Given the description of an element on the screen output the (x, y) to click on. 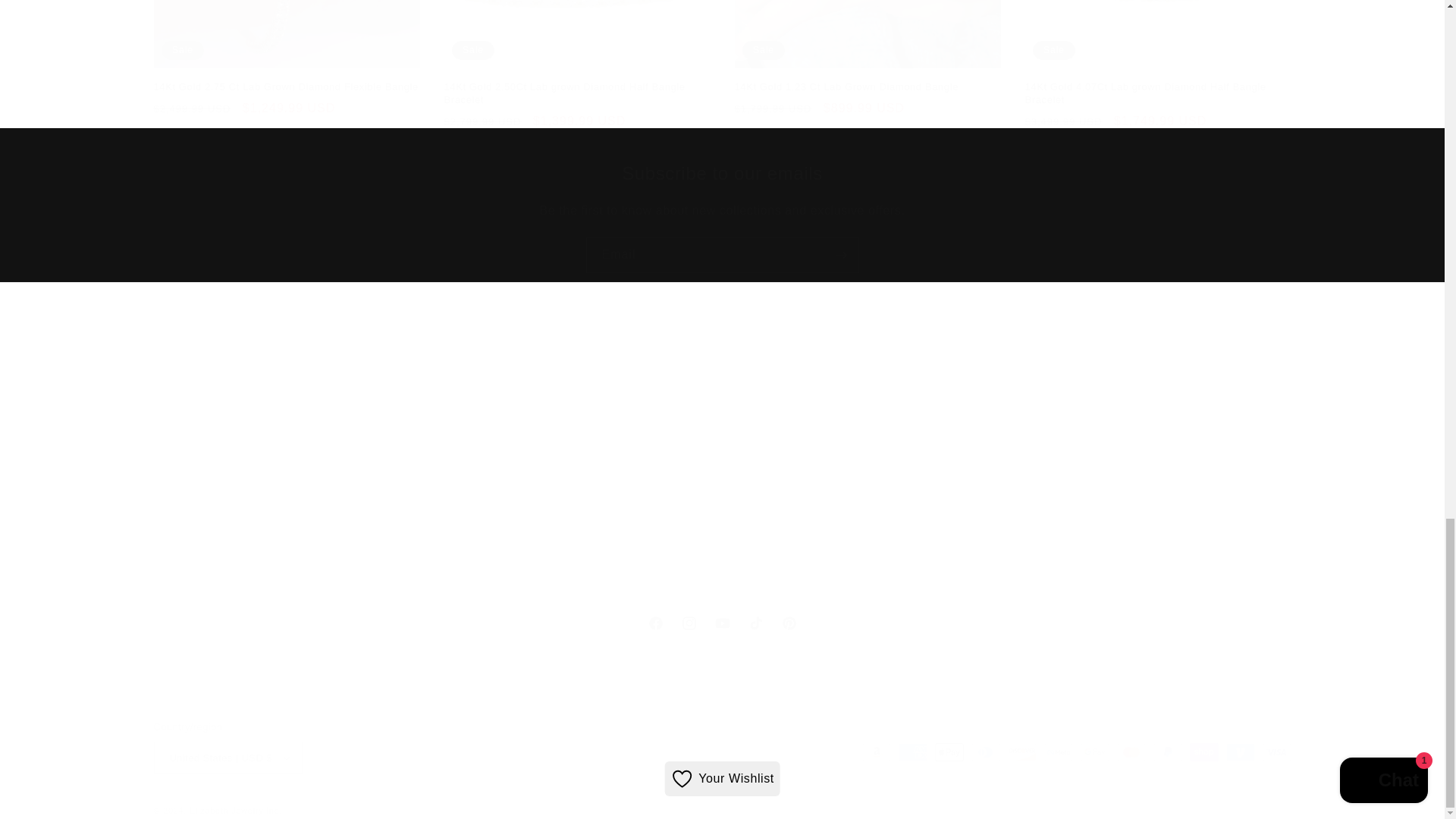
Subscribe to our emails (721, 173)
Email (722, 254)
